Given the description of an element on the screen output the (x, y) to click on. 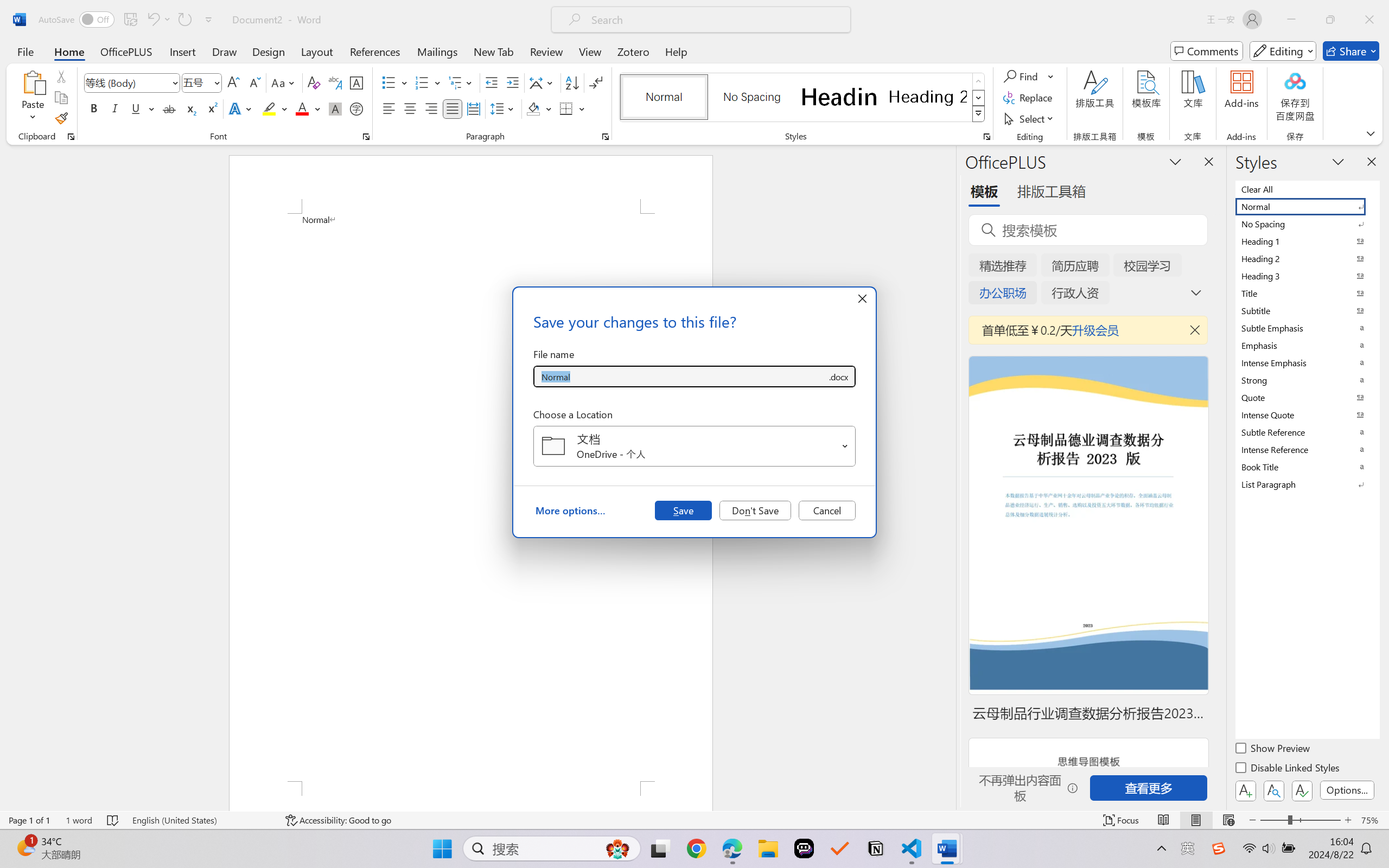
Restore Down (1330, 19)
Phonetic Guide... (334, 82)
Copy (60, 97)
Layout (316, 51)
Disable Linked Styles (1287, 769)
Normal (1306, 206)
Focus  (1121, 819)
Numbering (421, 82)
Text Effects and Typography (241, 108)
Options... (1346, 789)
Draw (224, 51)
